Given the description of an element on the screen output the (x, y) to click on. 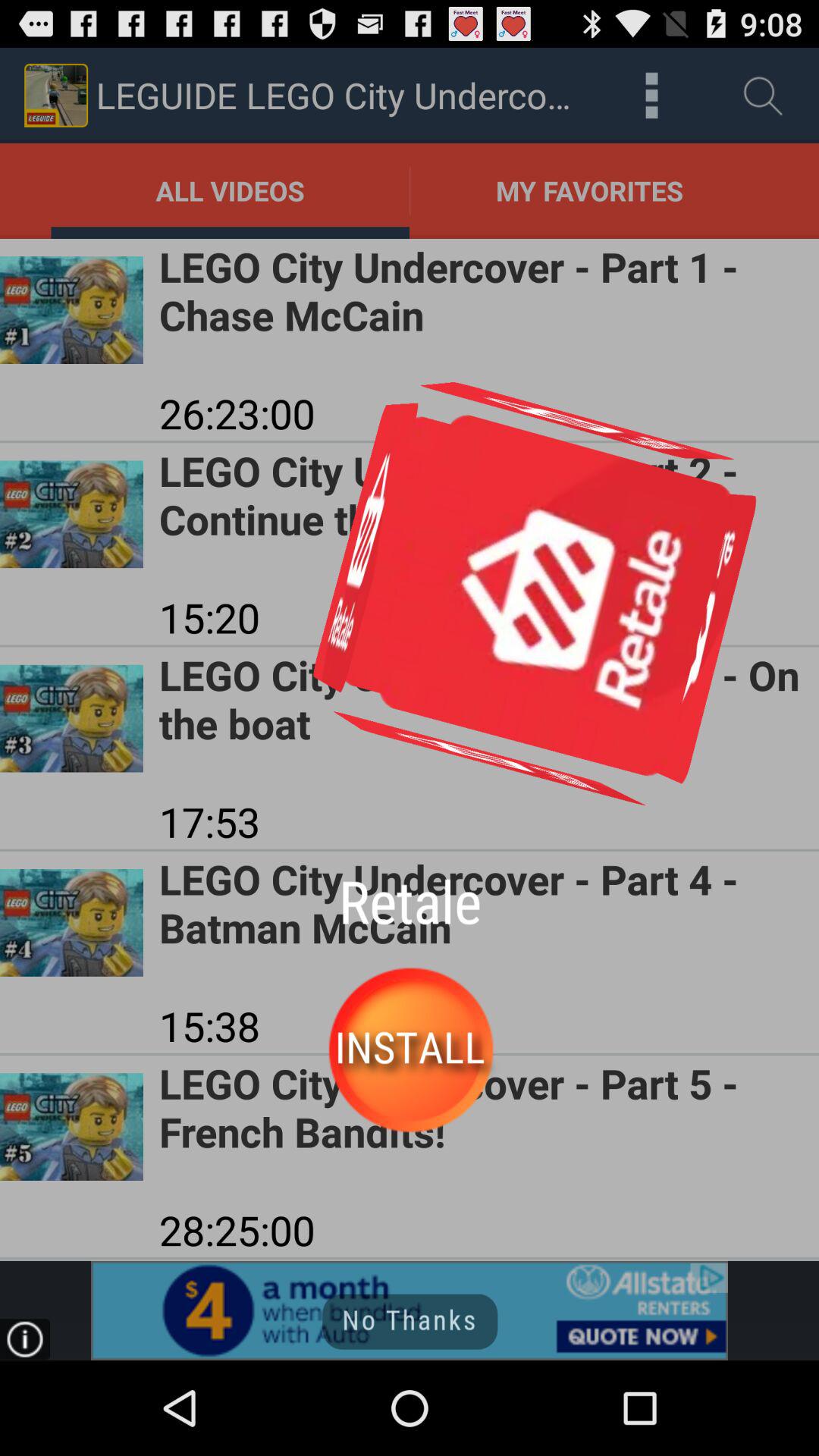
learn about this product (409, 1310)
